Given the description of an element on the screen output the (x, y) to click on. 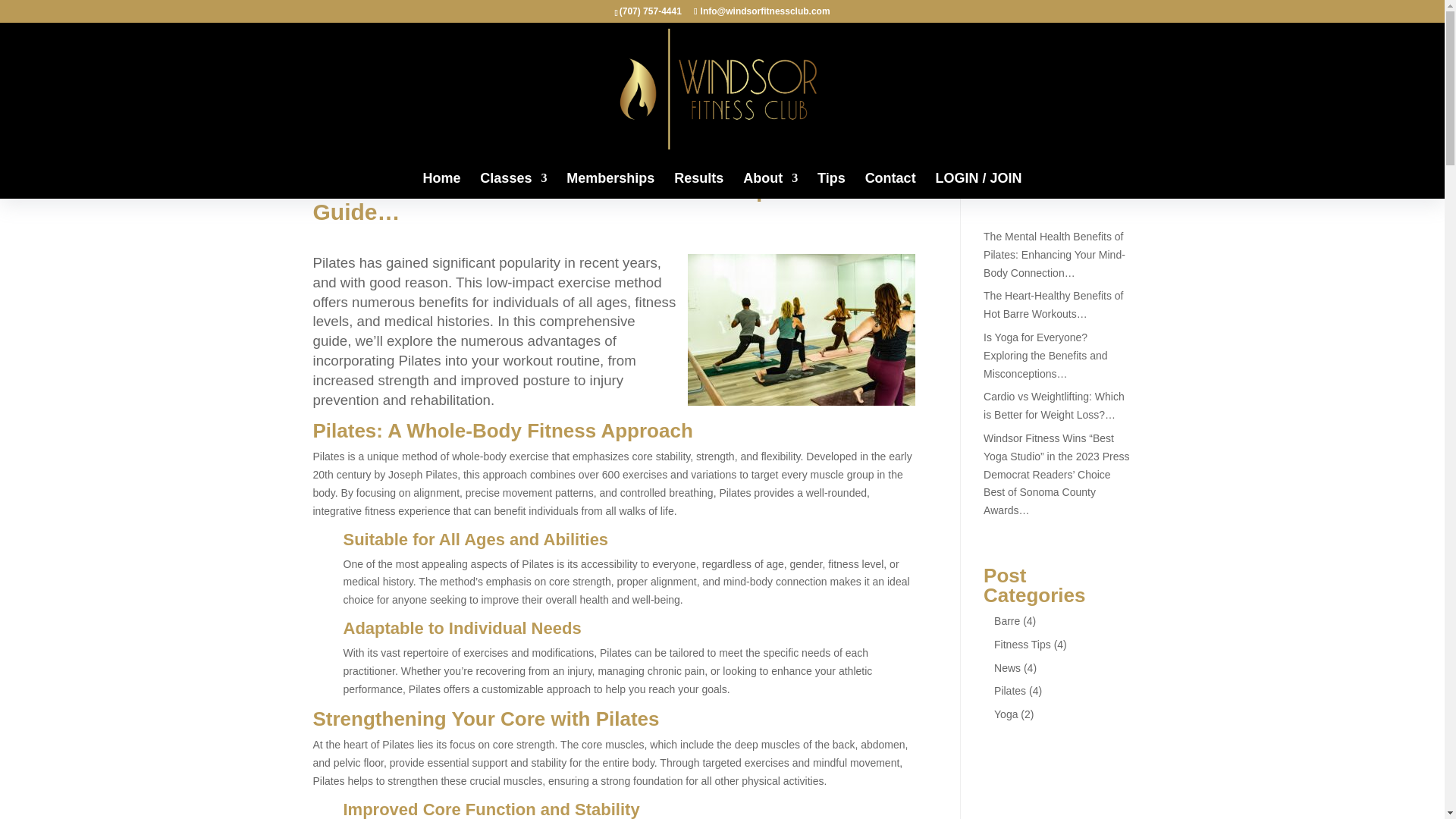
Contact (889, 185)
Home (441, 185)
Tips (830, 185)
Memberships (609, 185)
Classes (513, 185)
Results (698, 185)
About (769, 185)
